Given the description of an element on the screen output the (x, y) to click on. 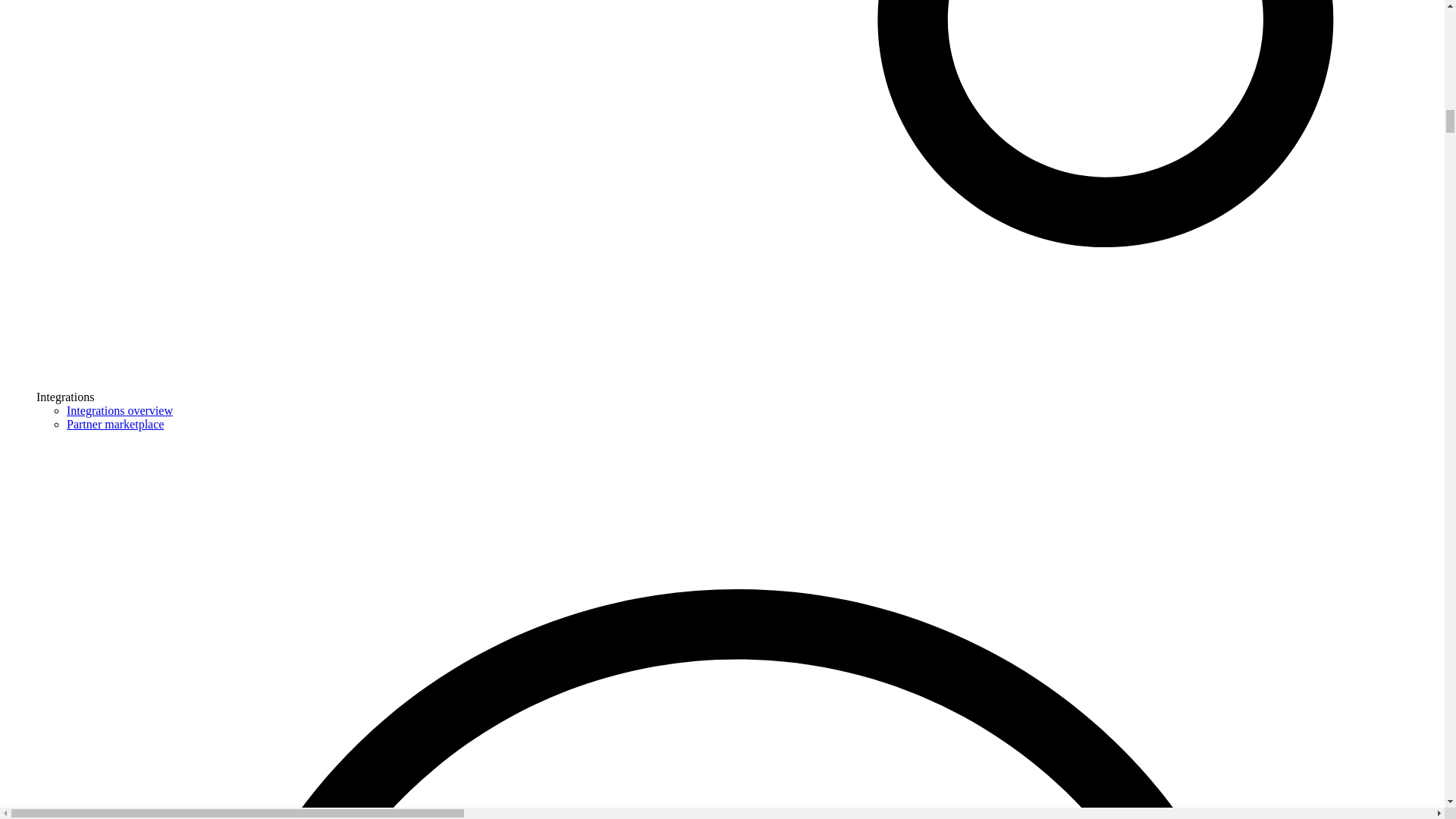
Partner marketplace (114, 423)
Integrations overview (119, 410)
